Given the description of an element on the screen output the (x, y) to click on. 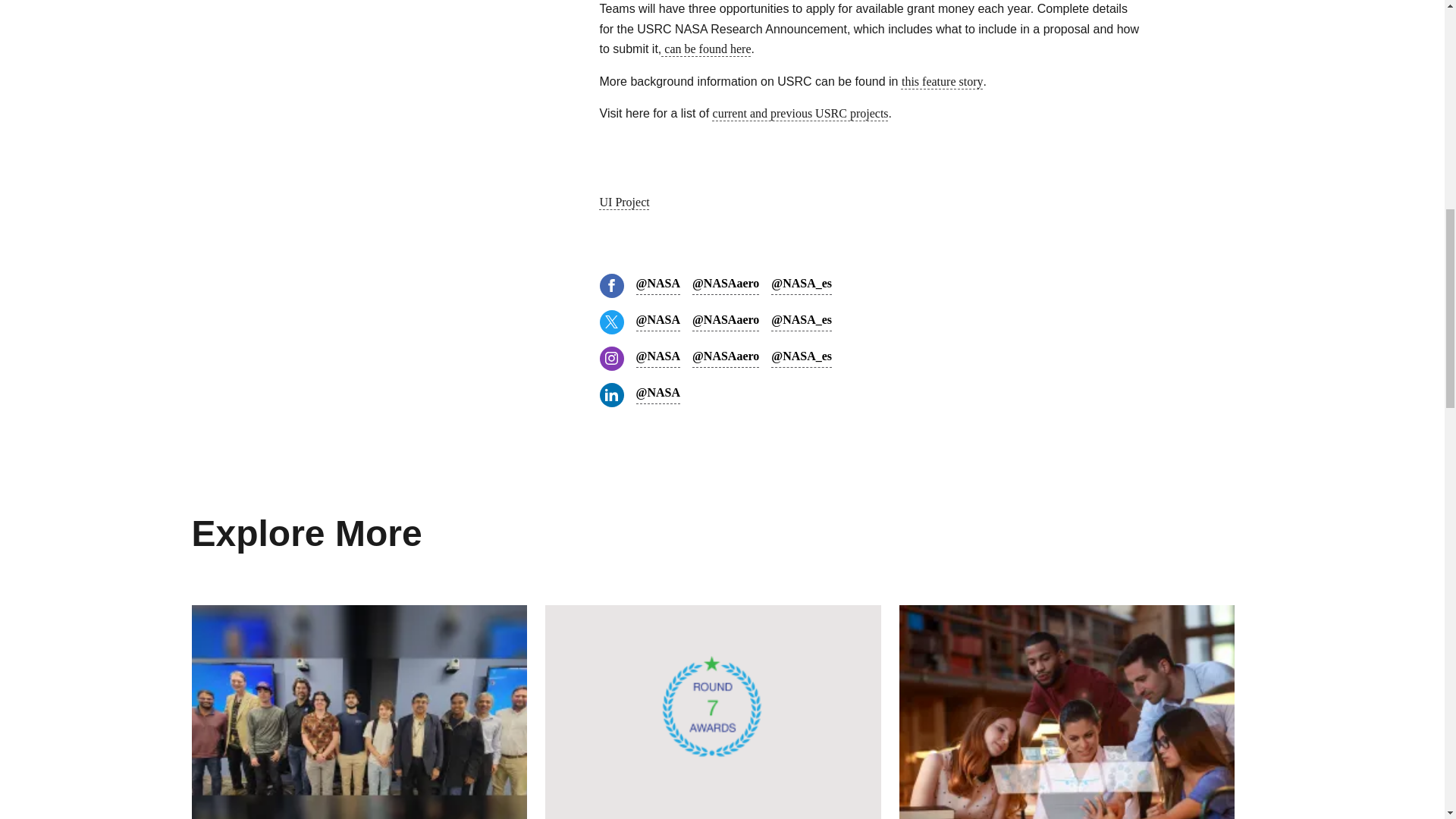
this feature story (942, 81)
UI Project (623, 201)
current and previous USRC projects (800, 113)
can be found here (706, 48)
